Given the description of an element on the screen output the (x, y) to click on. 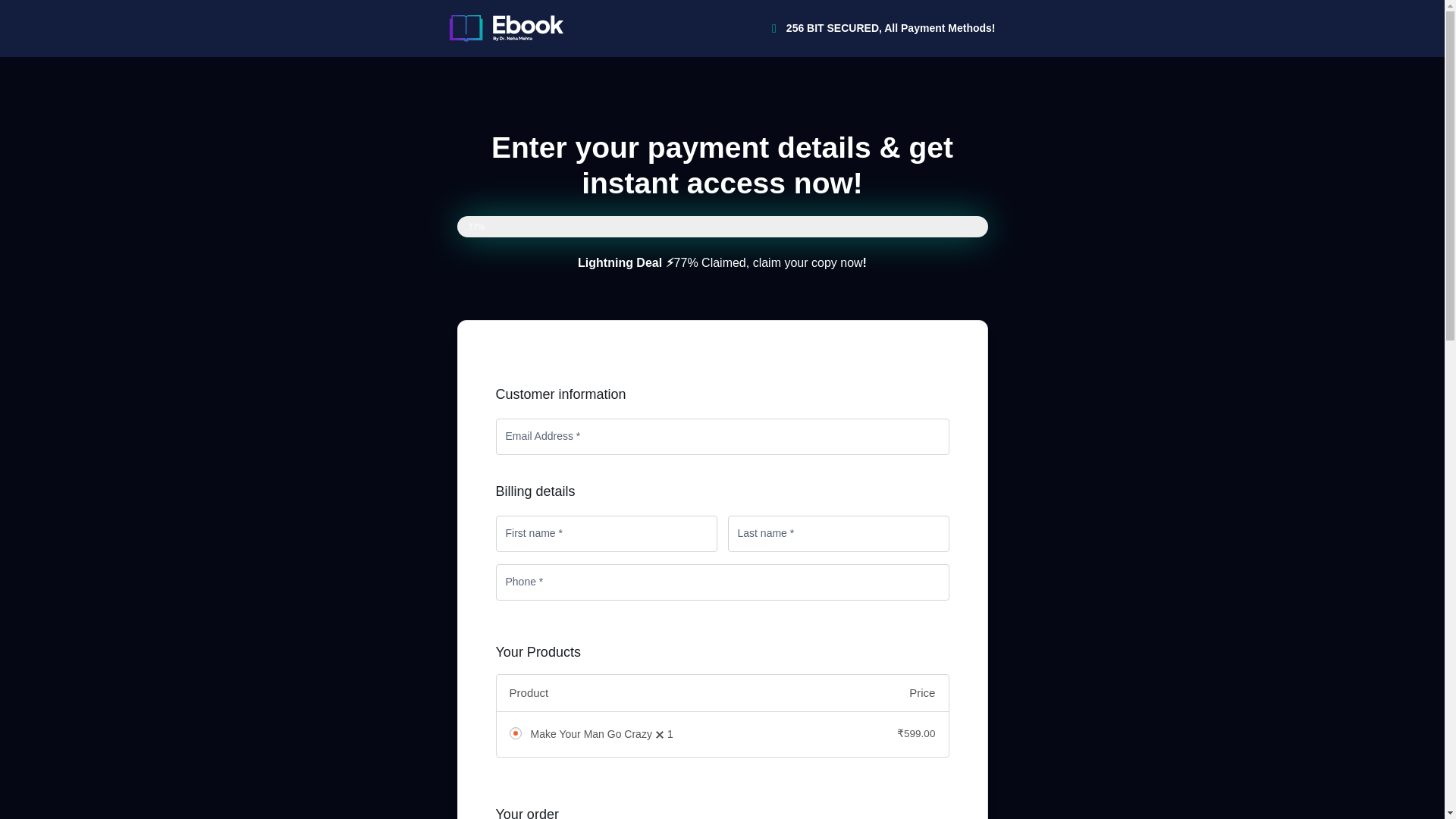
13423 (515, 733)
